Given the description of an element on the screen output the (x, y) to click on. 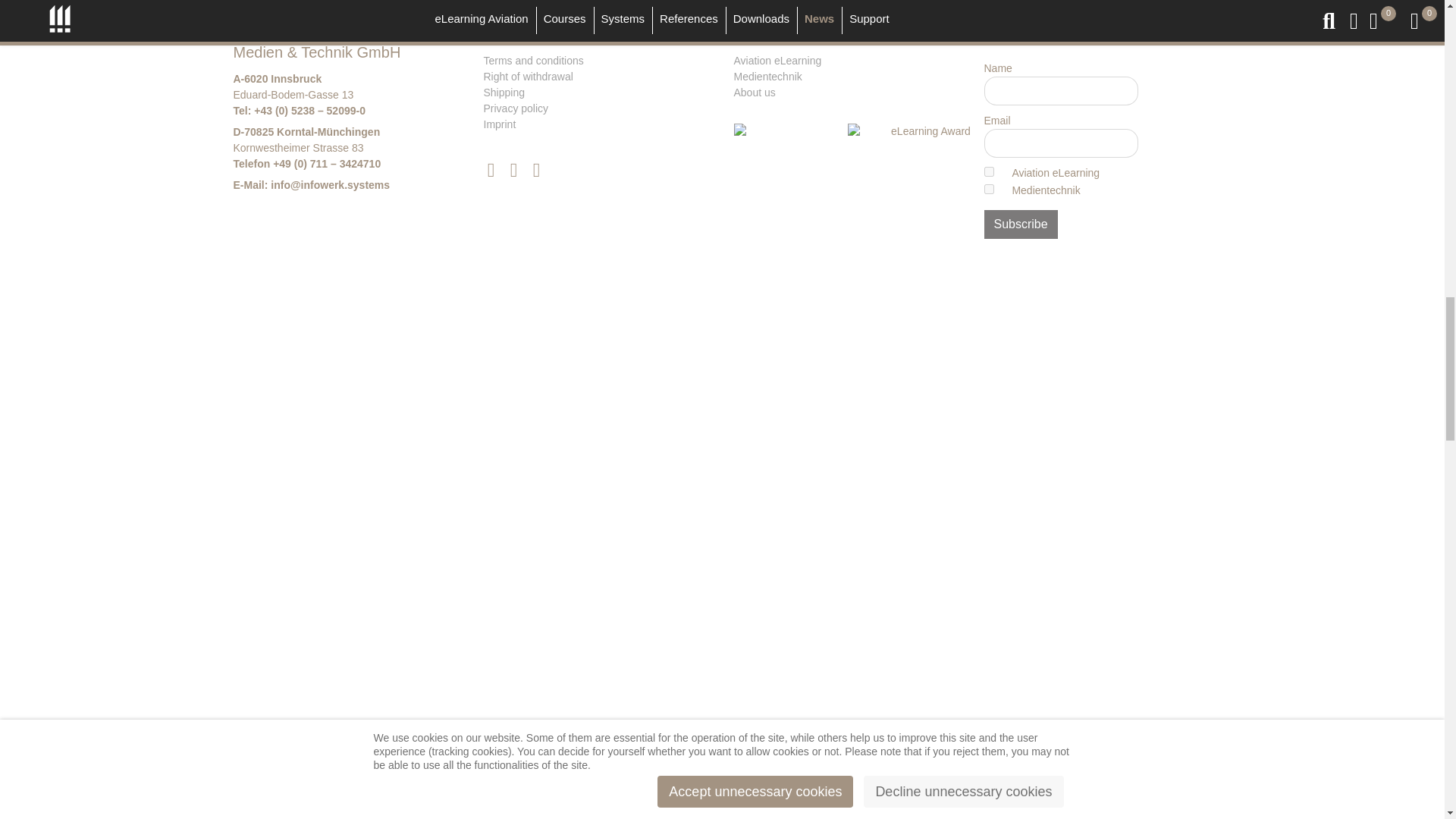
2 (989, 189)
1 (989, 171)
Subscribe (1021, 224)
